Given the description of an element on the screen output the (x, y) to click on. 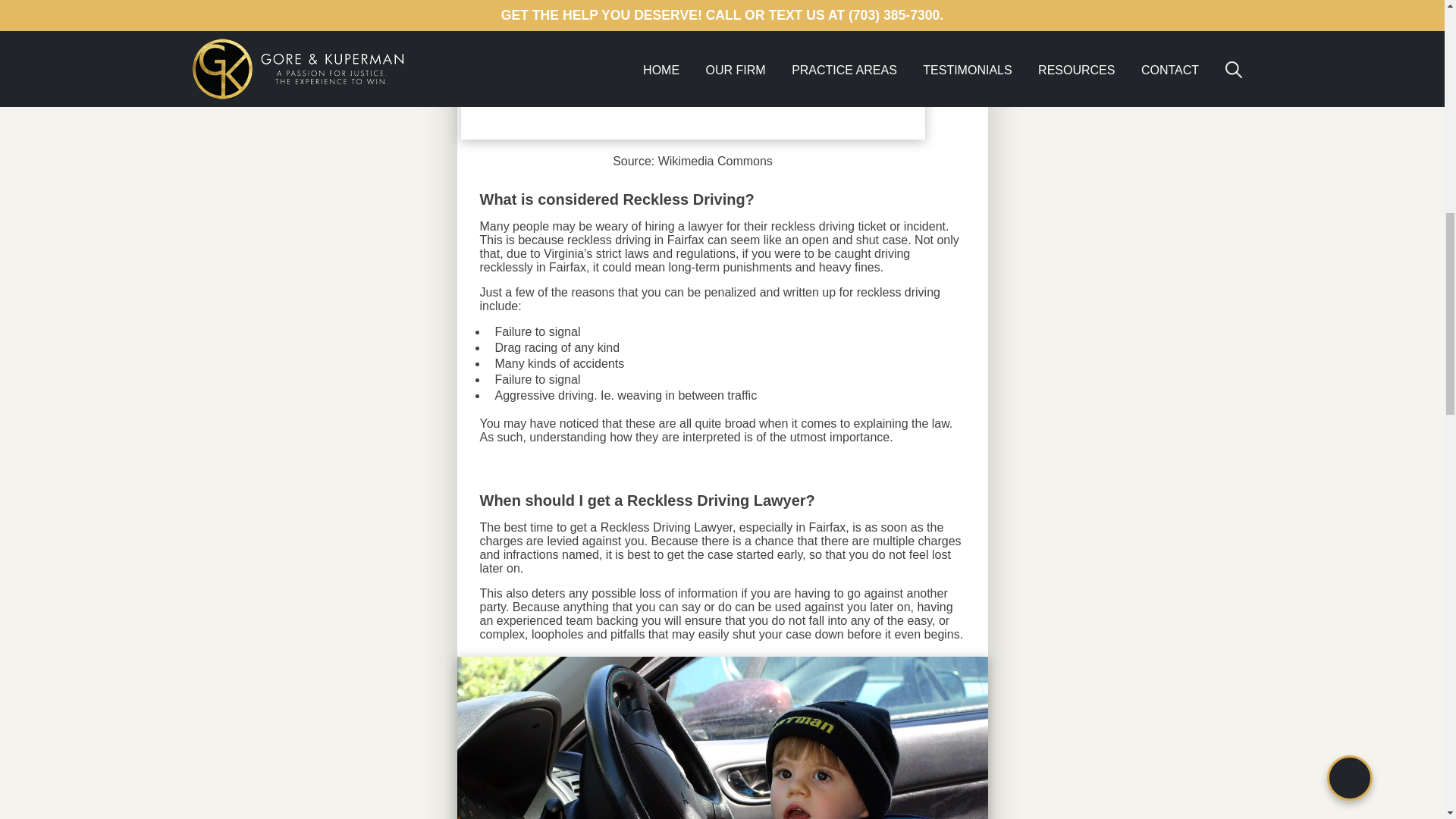
Contact a Fairfax Reckless Driving Lawyer Today! 2 (722, 737)
Contact a Fairfax Reckless Driving Lawyer Today! 1 (692, 69)
